Given the description of an element on the screen output the (x, y) to click on. 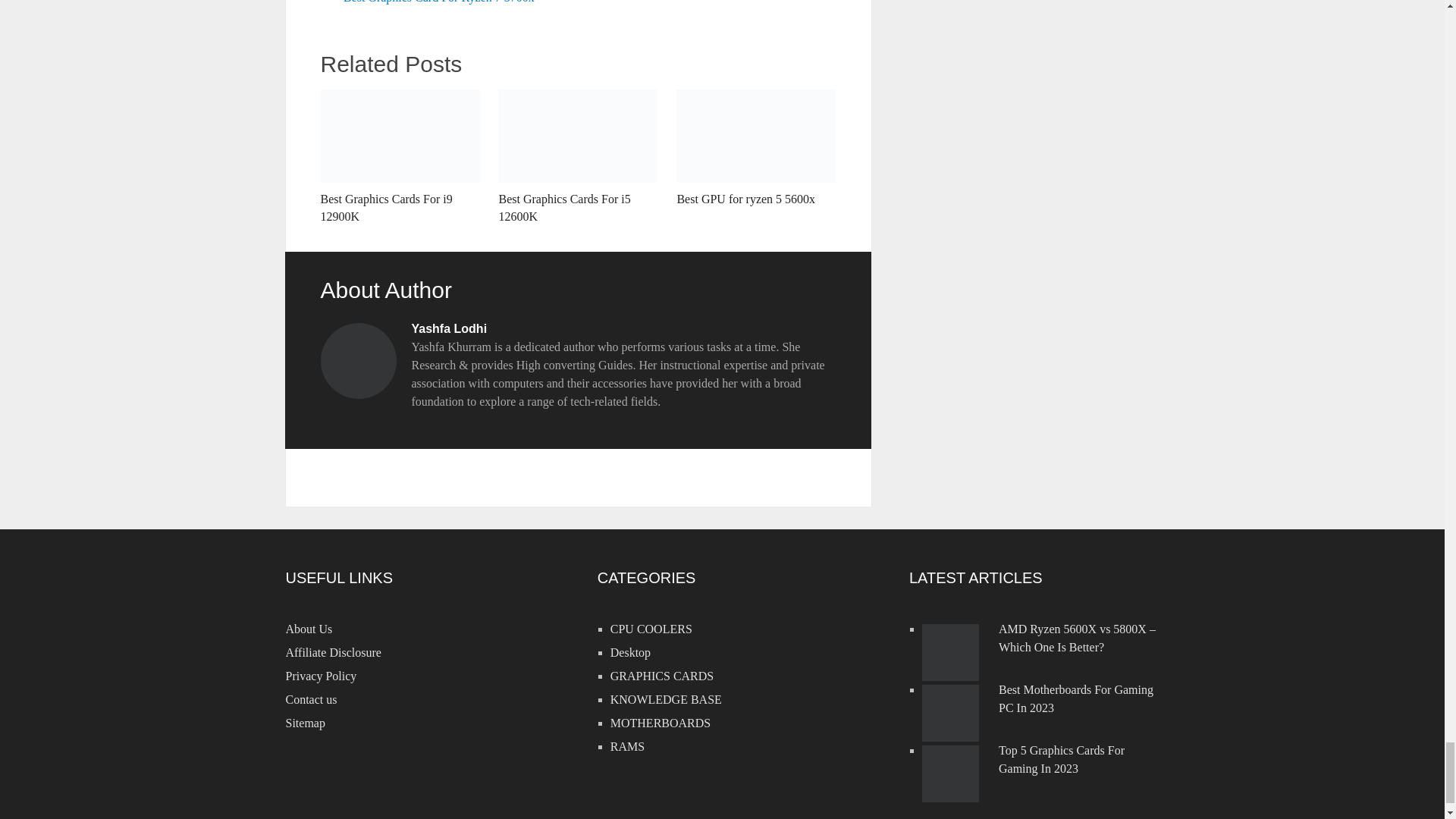
Best Graphics Cards For i5 12600K (577, 157)
Best GPU for ryzen 5 5600x (756, 148)
Best Graphics Cards For i9 12900K (399, 157)
